Given the description of an element on the screen output the (x, y) to click on. 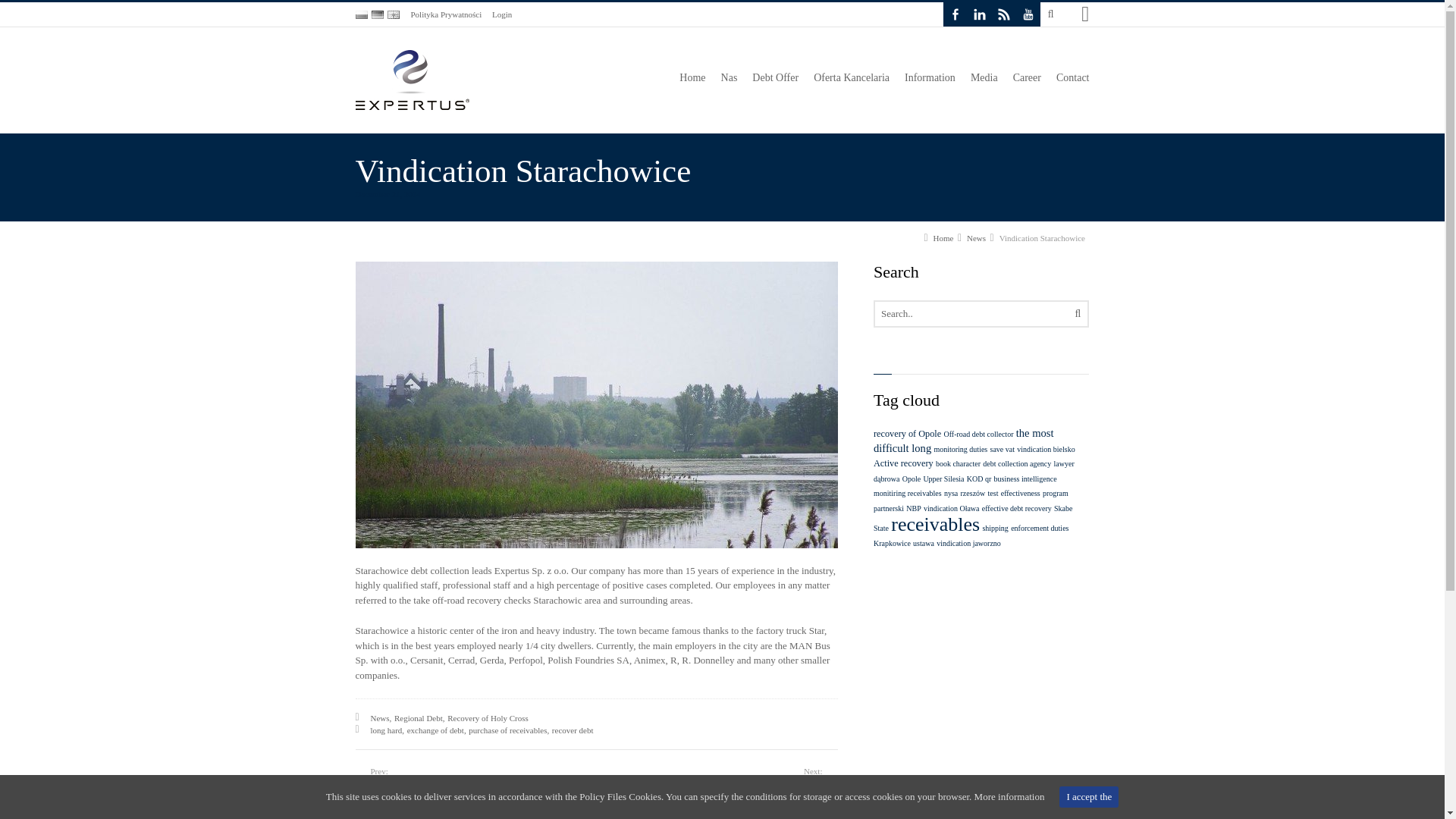
1 topic (978, 433)
1 topic (973, 471)
1 topic (911, 479)
Search (1067, 315)
Search (1066, 111)
1 topic (943, 479)
Login (502, 13)
1 topic (907, 492)
Oferta Kancelaria (851, 81)
Search.. (981, 313)
